Given the description of an element on the screen output the (x, y) to click on. 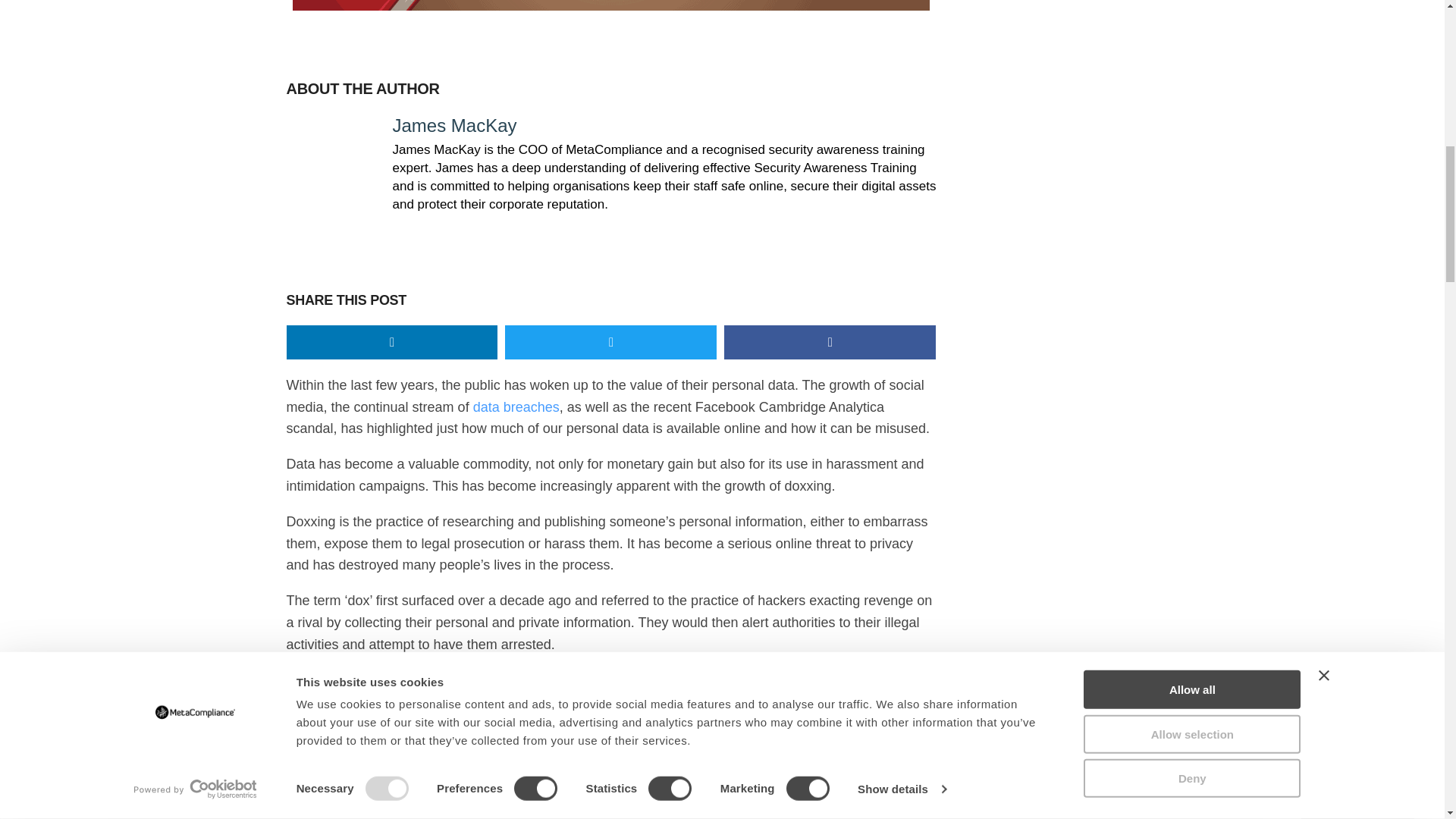
title (611, 5)
